Given the description of an element on the screen output the (x, y) to click on. 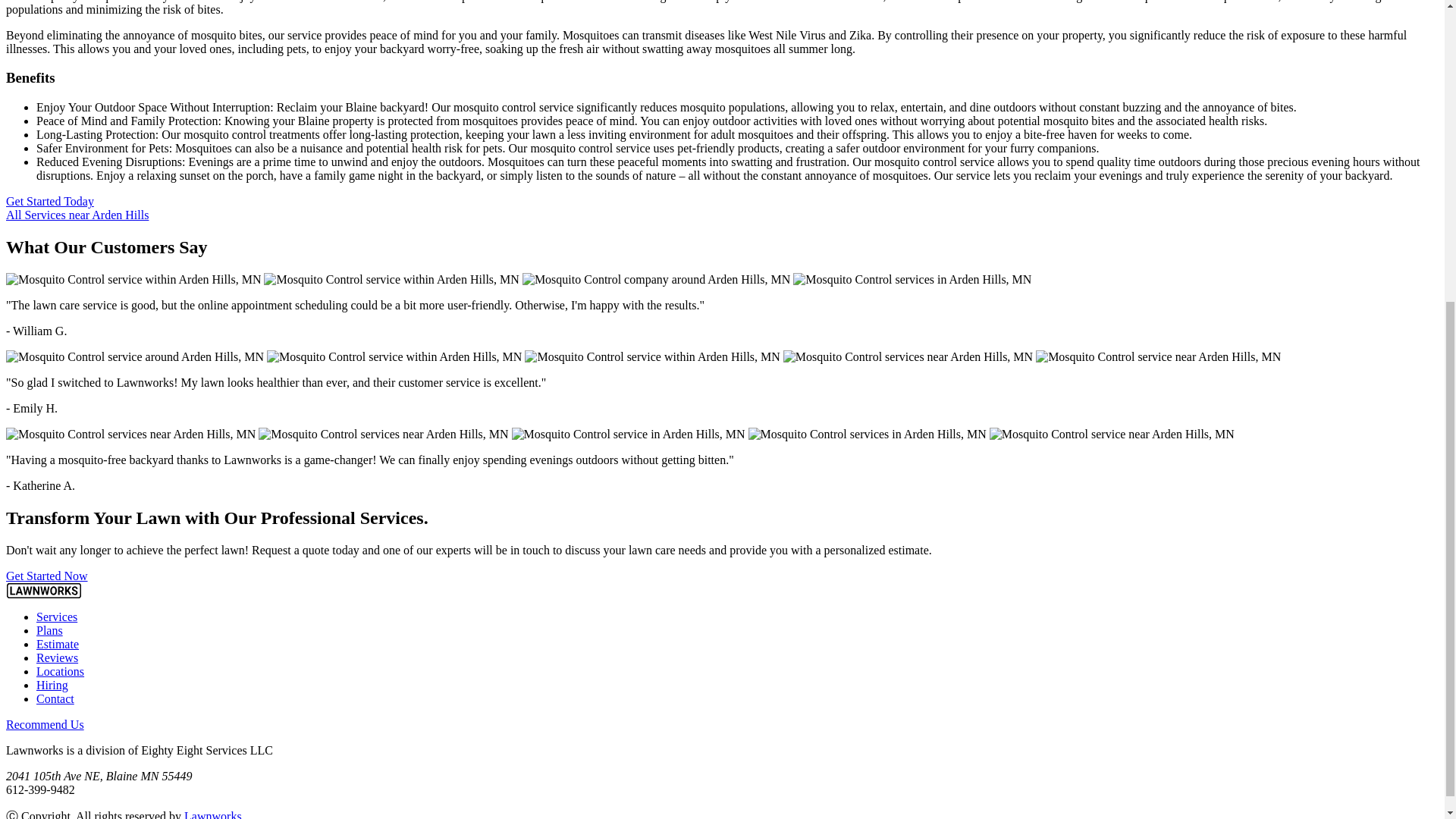
Contact (55, 698)
All Services near Arden Hills (76, 214)
Plans (49, 630)
Hiring (52, 684)
Estimate (57, 644)
Recommend Us (44, 724)
Get Started Today (49, 201)
Get Started Now (46, 575)
Services (56, 616)
Locations (60, 671)
Reviews (57, 657)
